Given the description of an element on the screen output the (x, y) to click on. 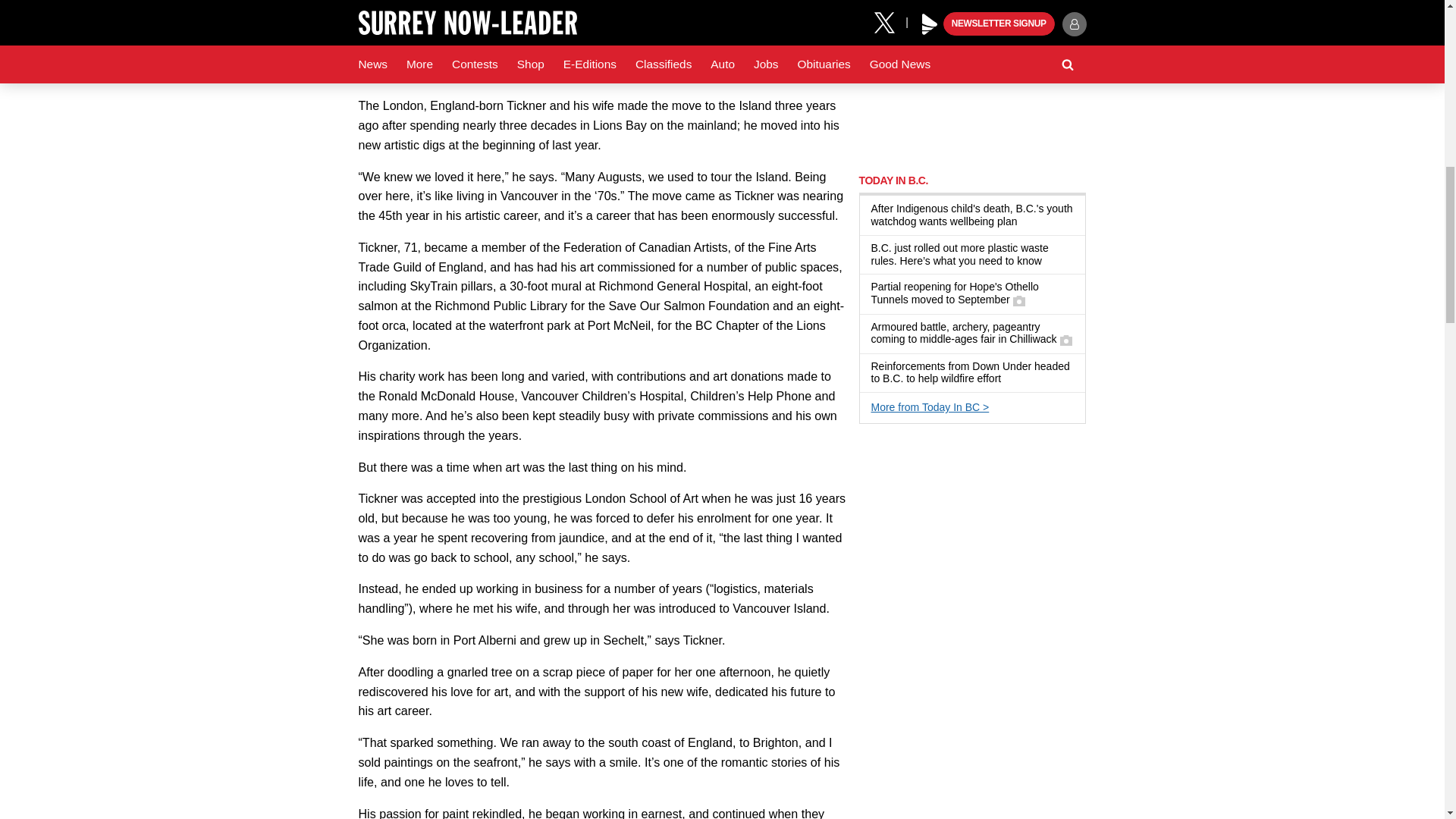
Has a gallery (1065, 340)
Has a gallery (1019, 300)
